Given the description of an element on the screen output the (x, y) to click on. 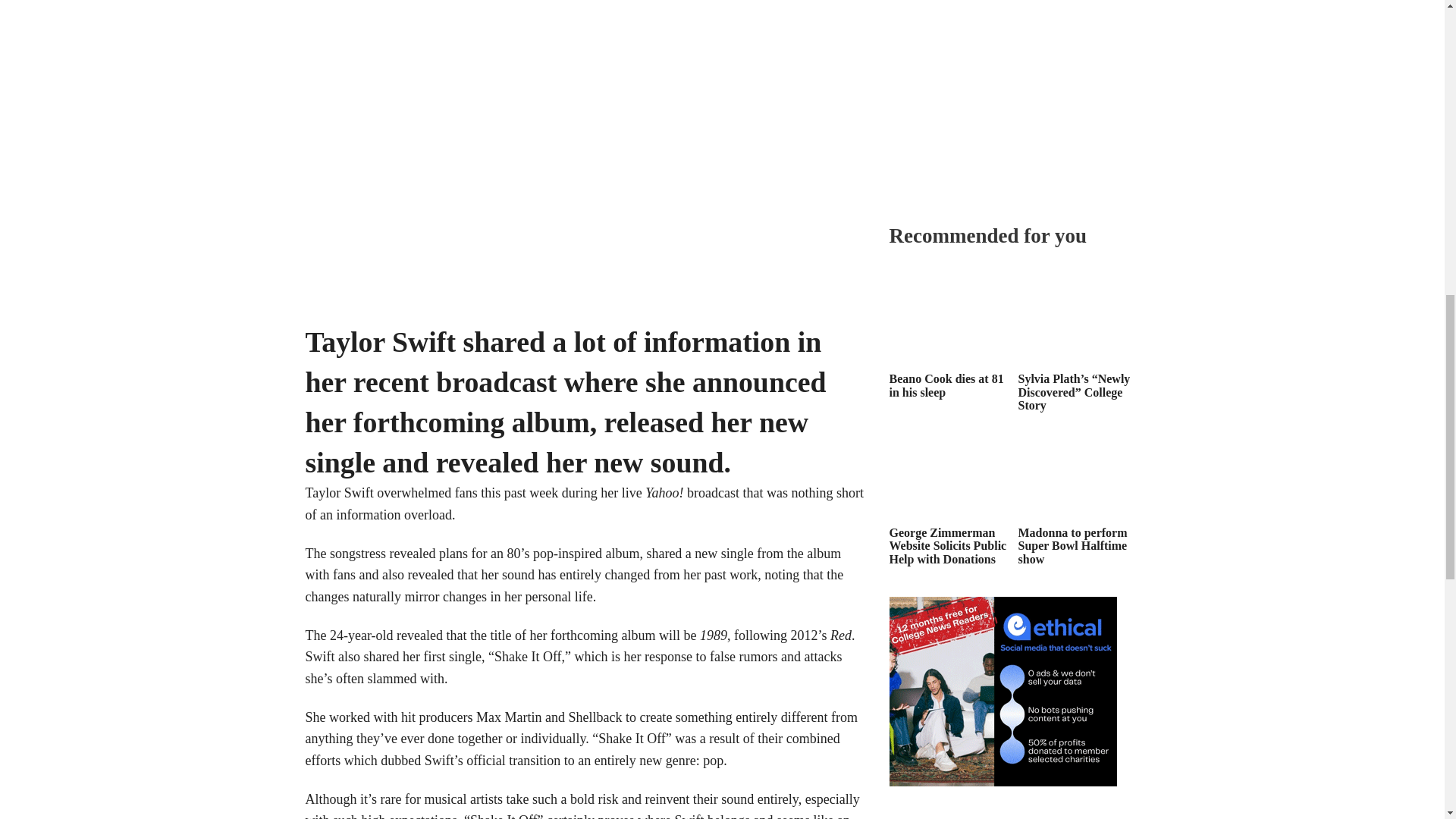
Advertisement (1002, 112)
Advertisement (1002, 802)
